Given the description of an element on the screen output the (x, y) to click on. 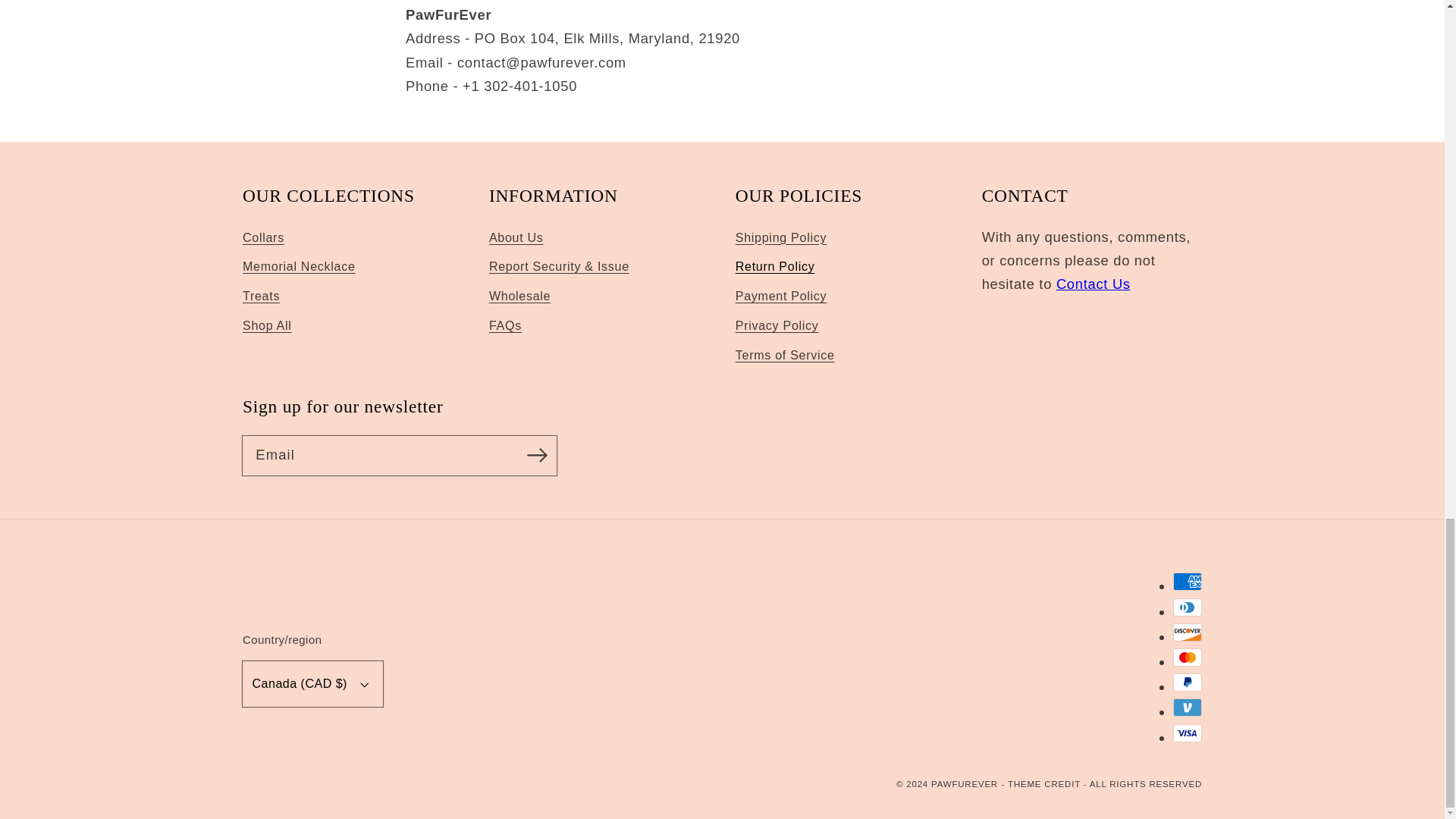
American Express (1187, 581)
Venmo (1187, 707)
Contact (1094, 283)
PayPal (1187, 682)
Discover (1187, 632)
Visa (1187, 732)
Diners Club (1187, 607)
Mastercard (1187, 657)
